Given the description of an element on the screen output the (x, y) to click on. 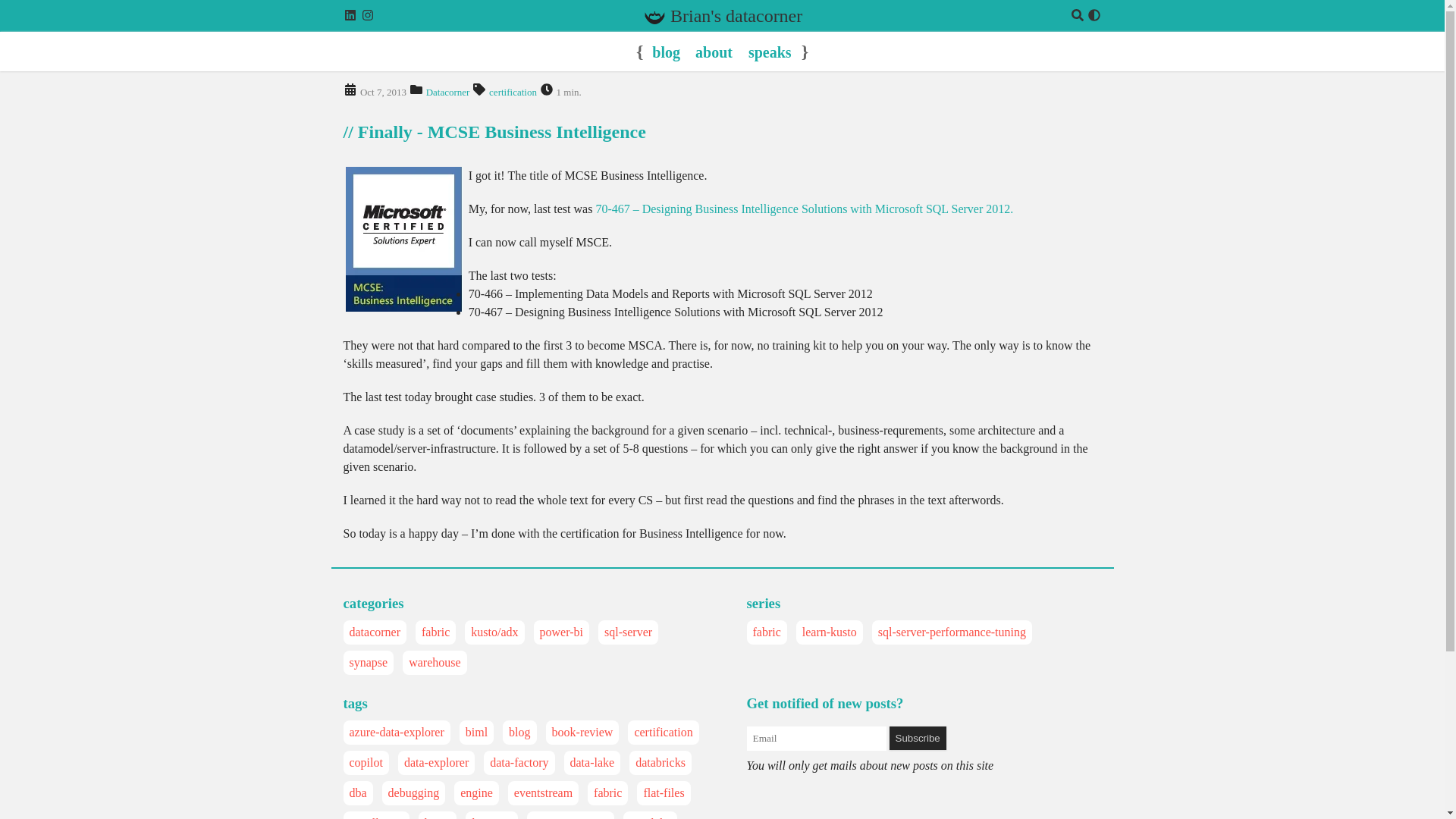
debugging (413, 792)
sql-server (628, 632)
certification (513, 91)
data-lake (592, 762)
biml (476, 732)
datacorner (374, 632)
fabric (766, 632)
kusto (438, 816)
blog (518, 732)
fabric (607, 792)
